Given the description of an element on the screen output the (x, y) to click on. 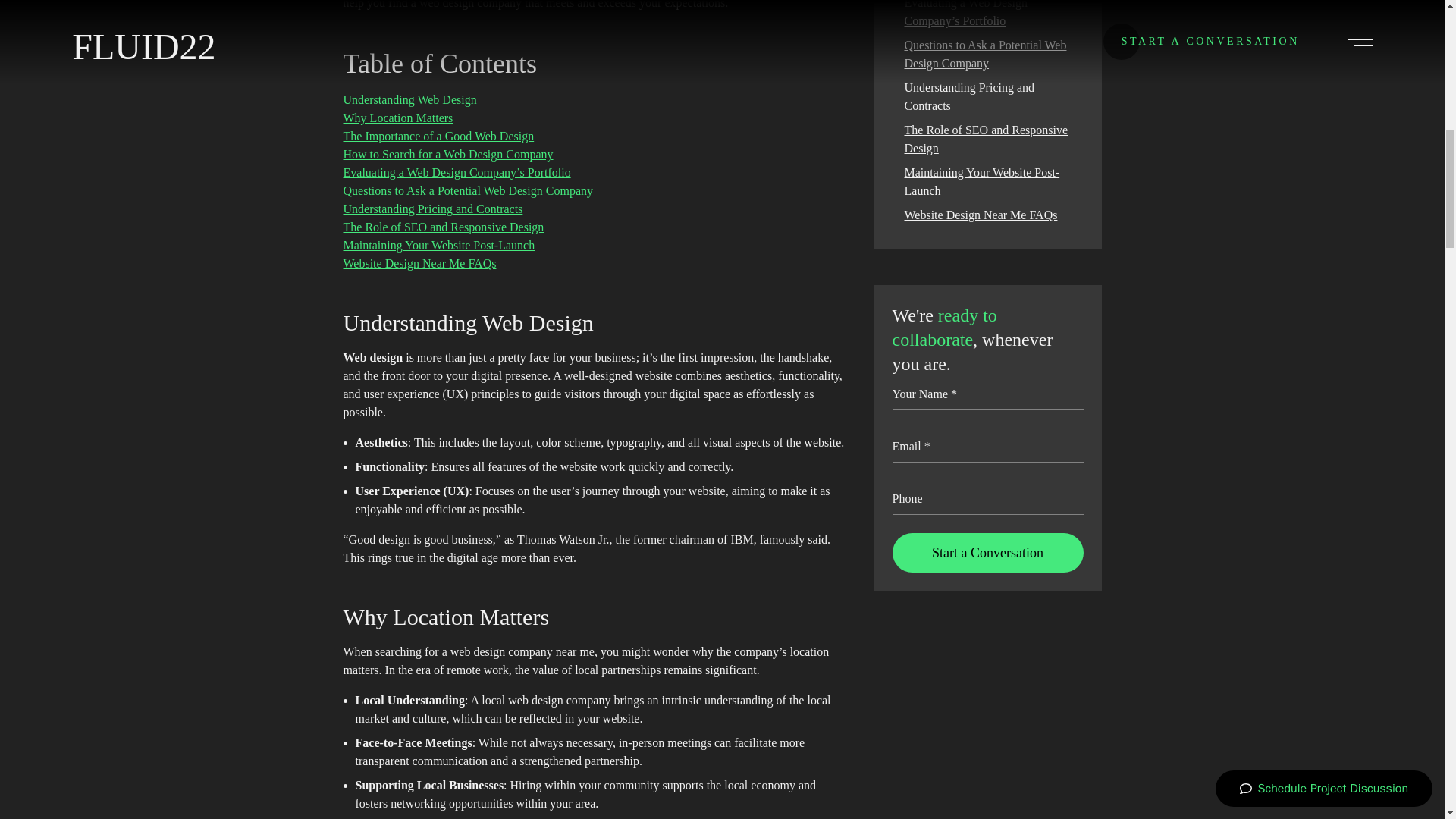
The Role of SEO and Responsive Design (985, 138)
The Role of SEO and Responsive Design (442, 226)
The Importance of a Good Web Design (438, 135)
Questions to Ask a Potential Web Design Company (467, 190)
Why Location Matters (397, 117)
Maintaining Your Website Post-Launch (981, 181)
web design company near me (521, 651)
How to Search for a Web Design Company (447, 154)
Understanding Pricing and Contracts (432, 208)
Understanding Web Design (409, 99)
